Given the description of an element on the screen output the (x, y) to click on. 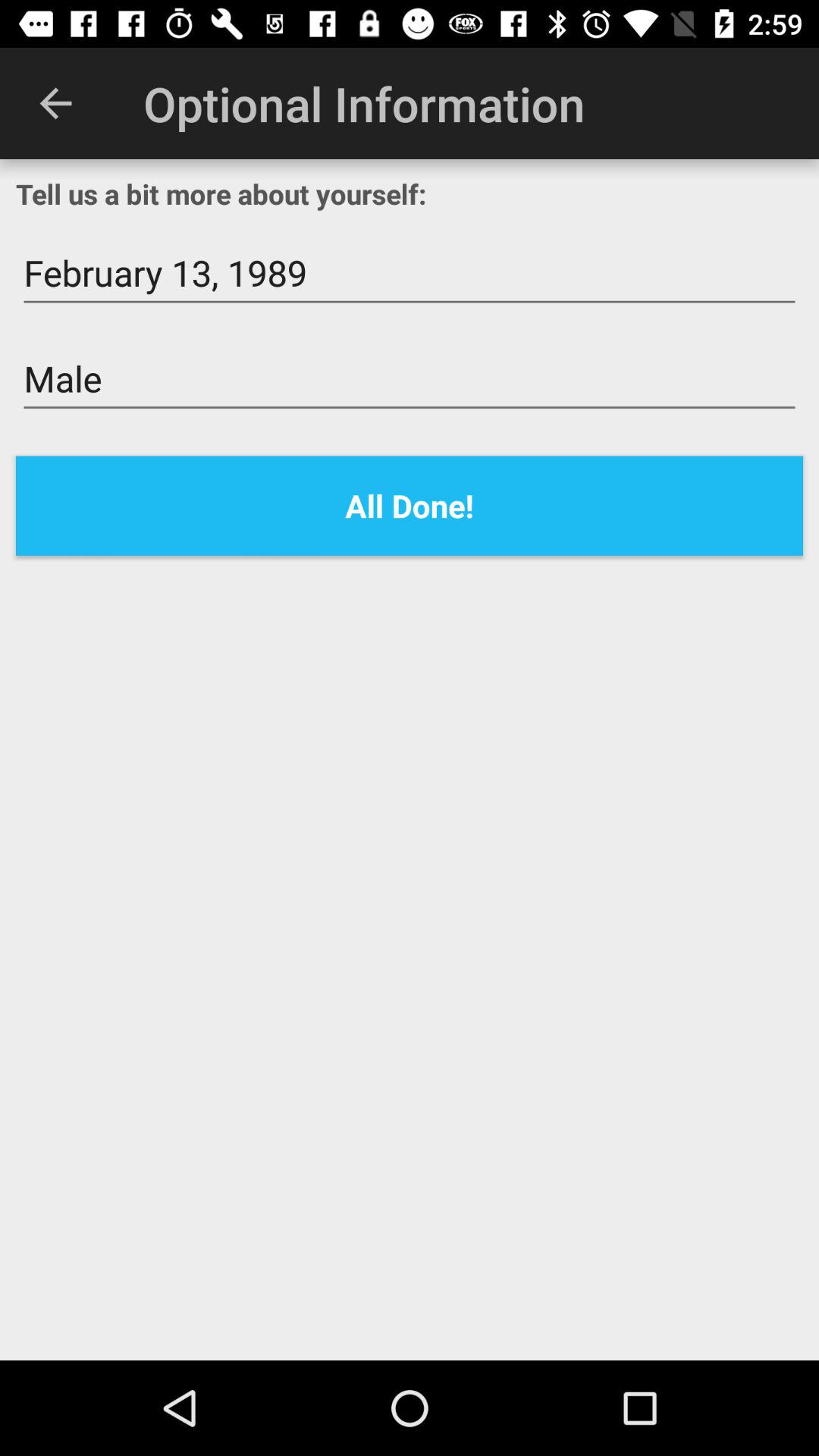
scroll to february 13, 1989 (409, 273)
